Given the description of an element on the screen output the (x, y) to click on. 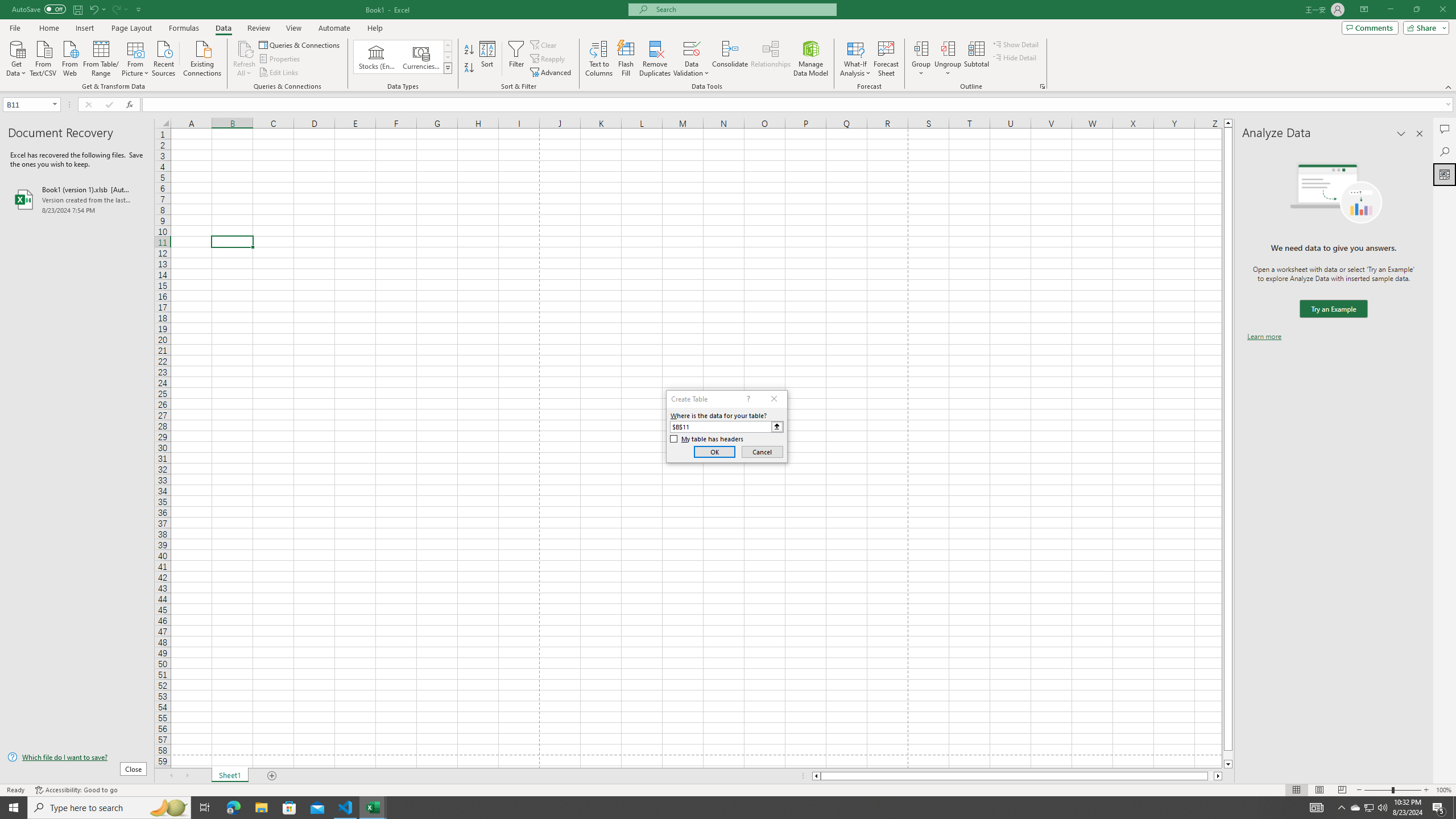
From Picture (135, 57)
Group... (921, 48)
Sort A to Z (469, 49)
Data Validation... (691, 58)
What-If Analysis (855, 58)
Book1 (version 1).xlsb  [AutoRecovered] (77, 199)
Class: MsoCommandBar (728, 45)
Properties (280, 58)
Reapply (548, 58)
